Given the description of an element on the screen output the (x, y) to click on. 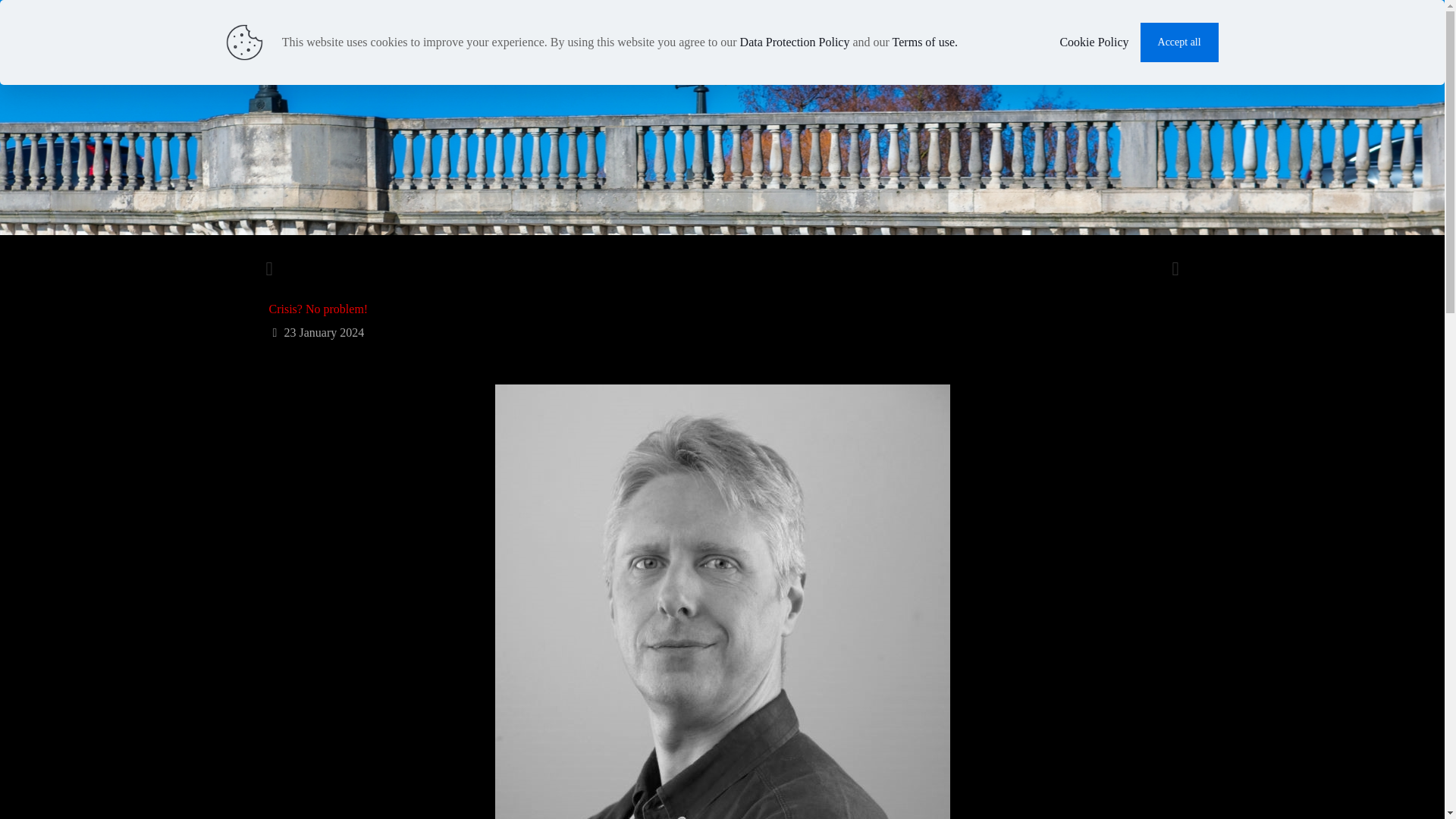
Careers (1092, 33)
Rare Diseases (1007, 33)
Human purpose (905, 33)
Havas Life Medicom (378, 22)
